Given the description of an element on the screen output the (x, y) to click on. 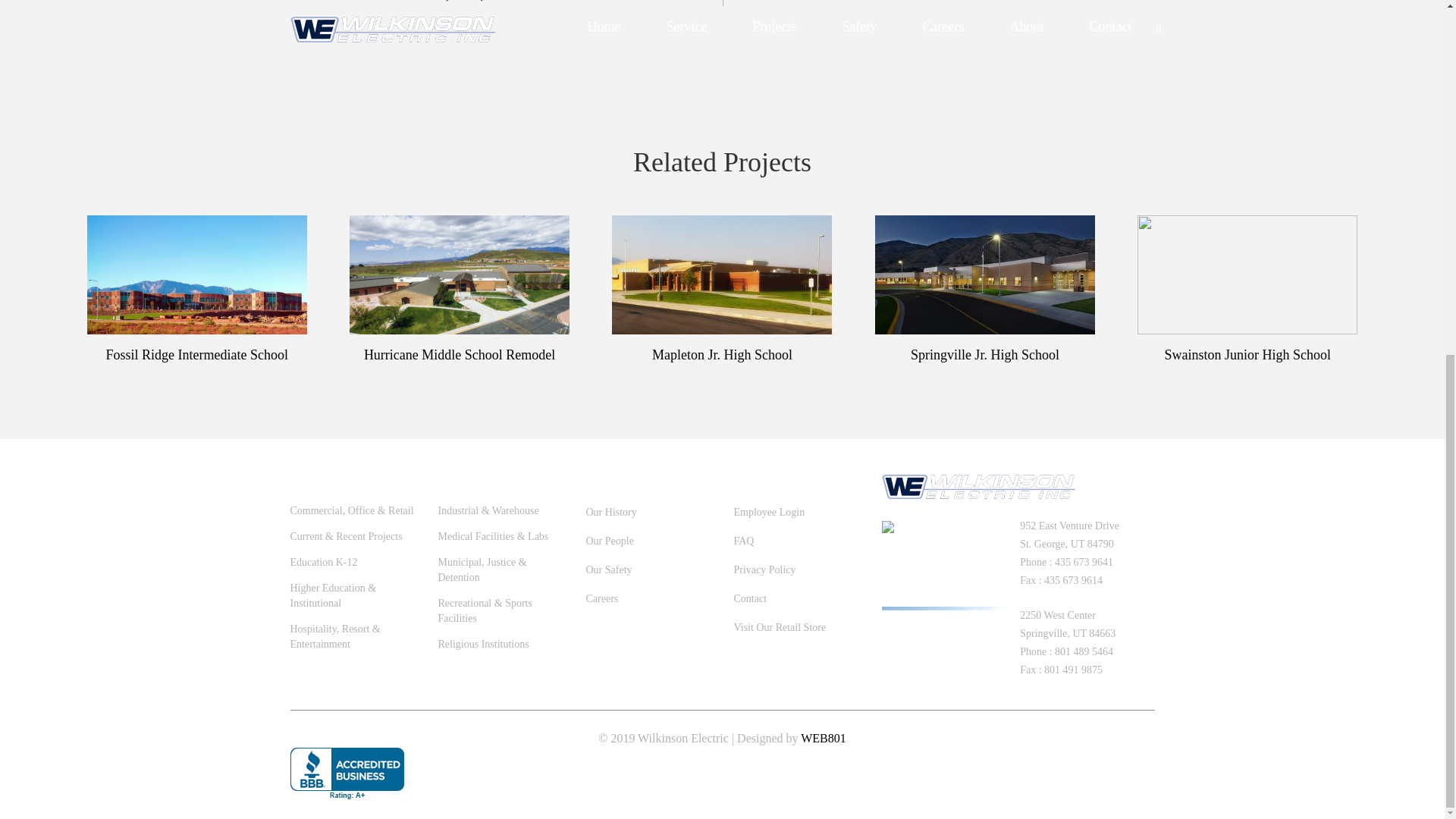
Our History (610, 511)
Our People (609, 541)
Our Safety (608, 569)
Careers (601, 598)
Swainston Junior High School (1248, 355)
Springville Jr. High School (984, 355)
Employee Login (769, 511)
Hurricane Middle School Remodel (459, 355)
Fossil Ridge Intermediate School (196, 355)
Religious Institutions (500, 644)
